Given the description of an element on the screen output the (x, y) to click on. 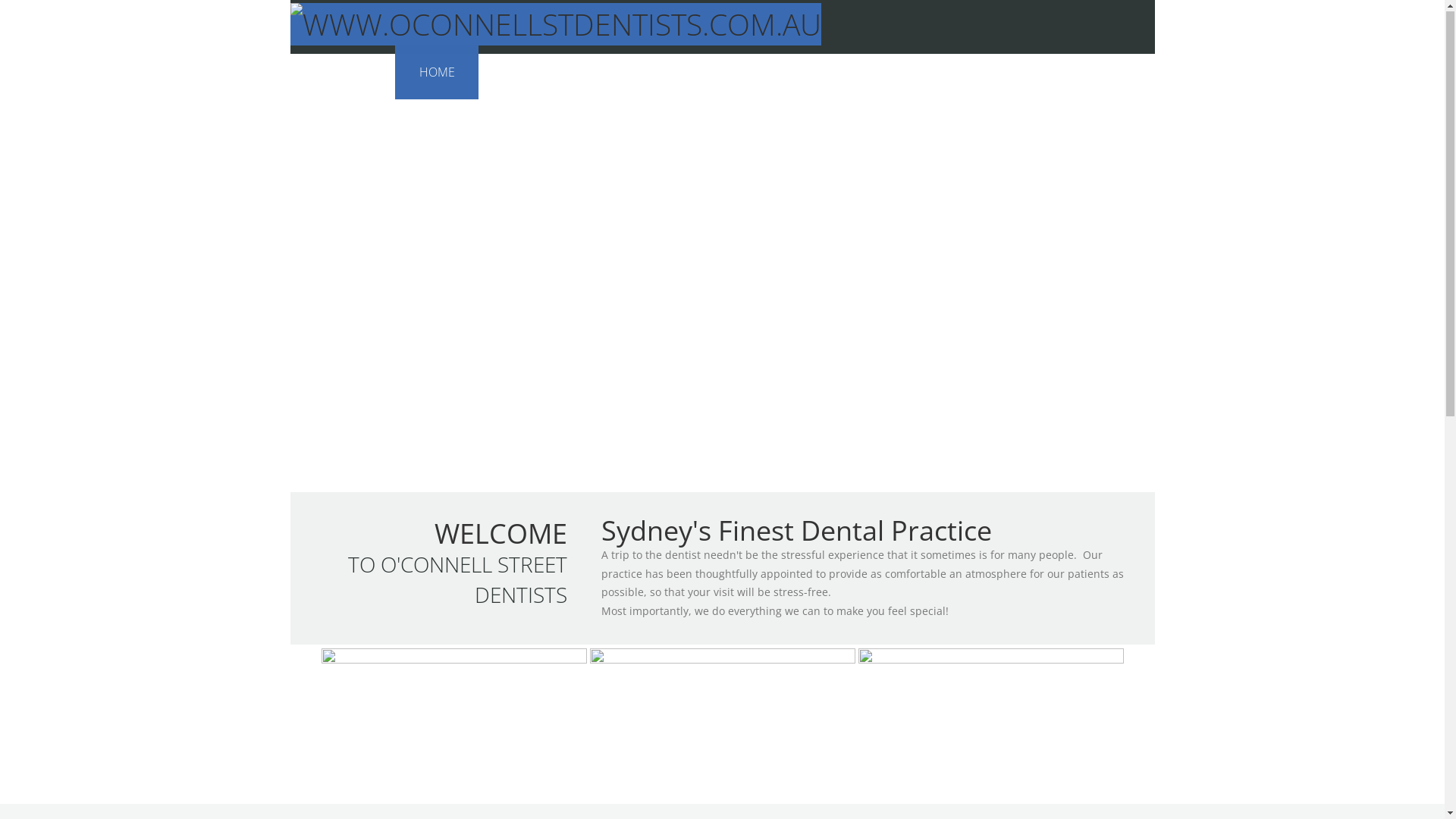
WHAT WE PROVIDE Element type: text (823, 73)
www.oconnellstdentists.com.au Element type: hover (554, 24)
CONTACT US Element type: text (1094, 73)
OUR LOCATION Element type: text (967, 73)
HOME Element type: text (436, 73)
THE DENTISTS Element type: text (541, 73)
WHY CHOOSE US Element type: text (676, 73)
